Given the description of an element on the screen output the (x, y) to click on. 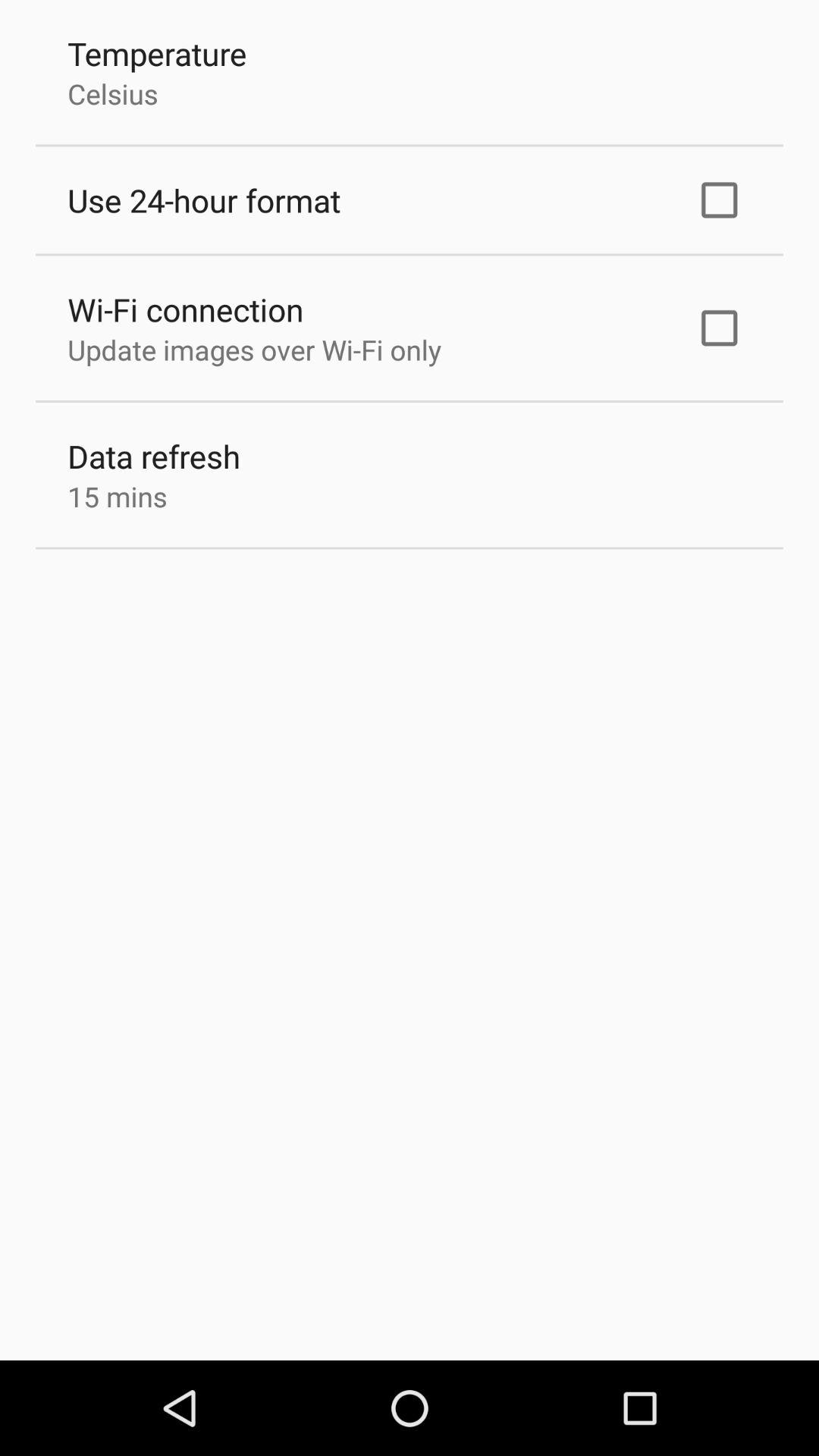
swipe to the use 24 hour icon (203, 199)
